Given the description of an element on the screen output the (x, y) to click on. 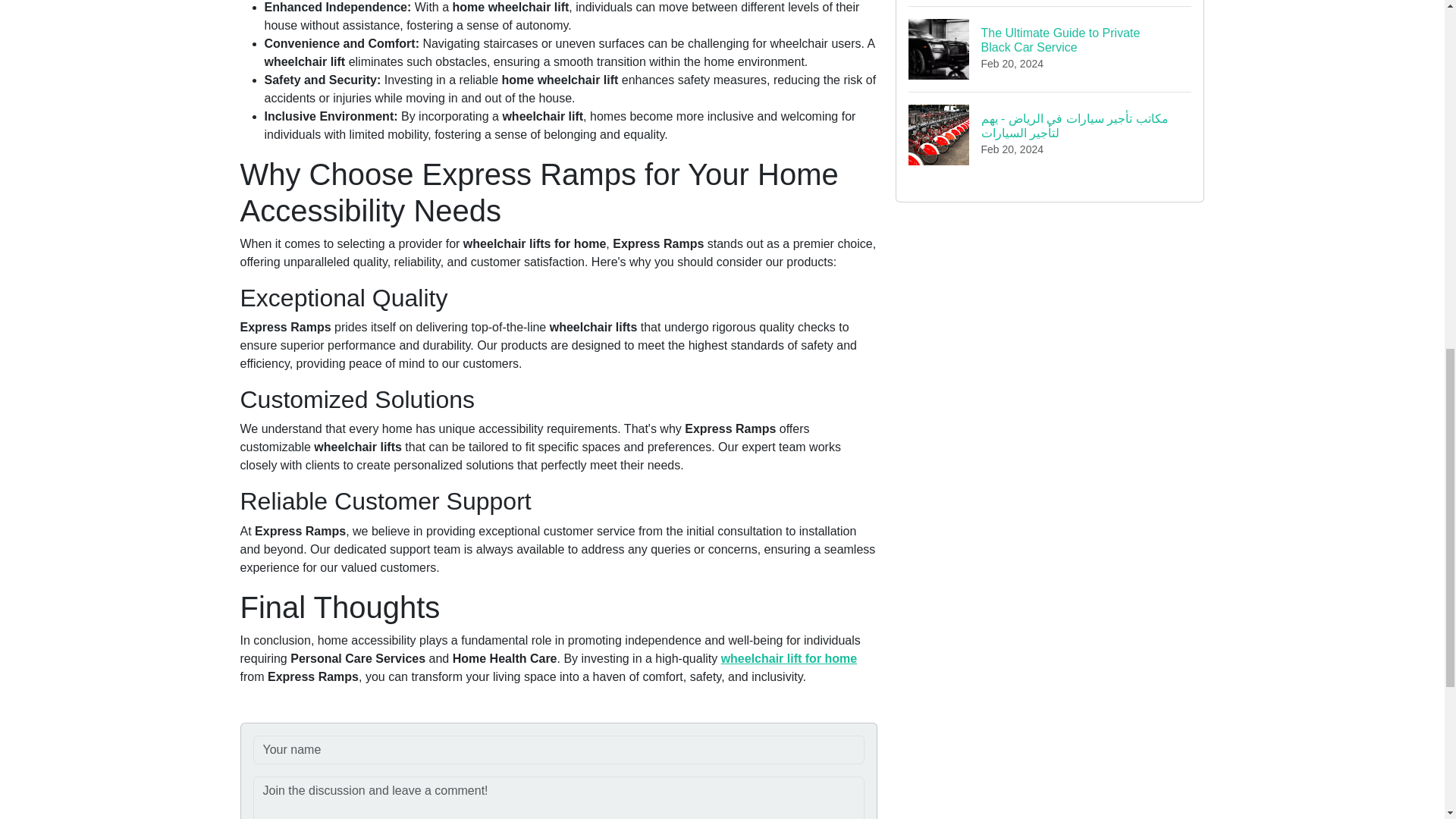
wheelchair lift for home (788, 658)
